Given the description of an element on the screen output the (x, y) to click on. 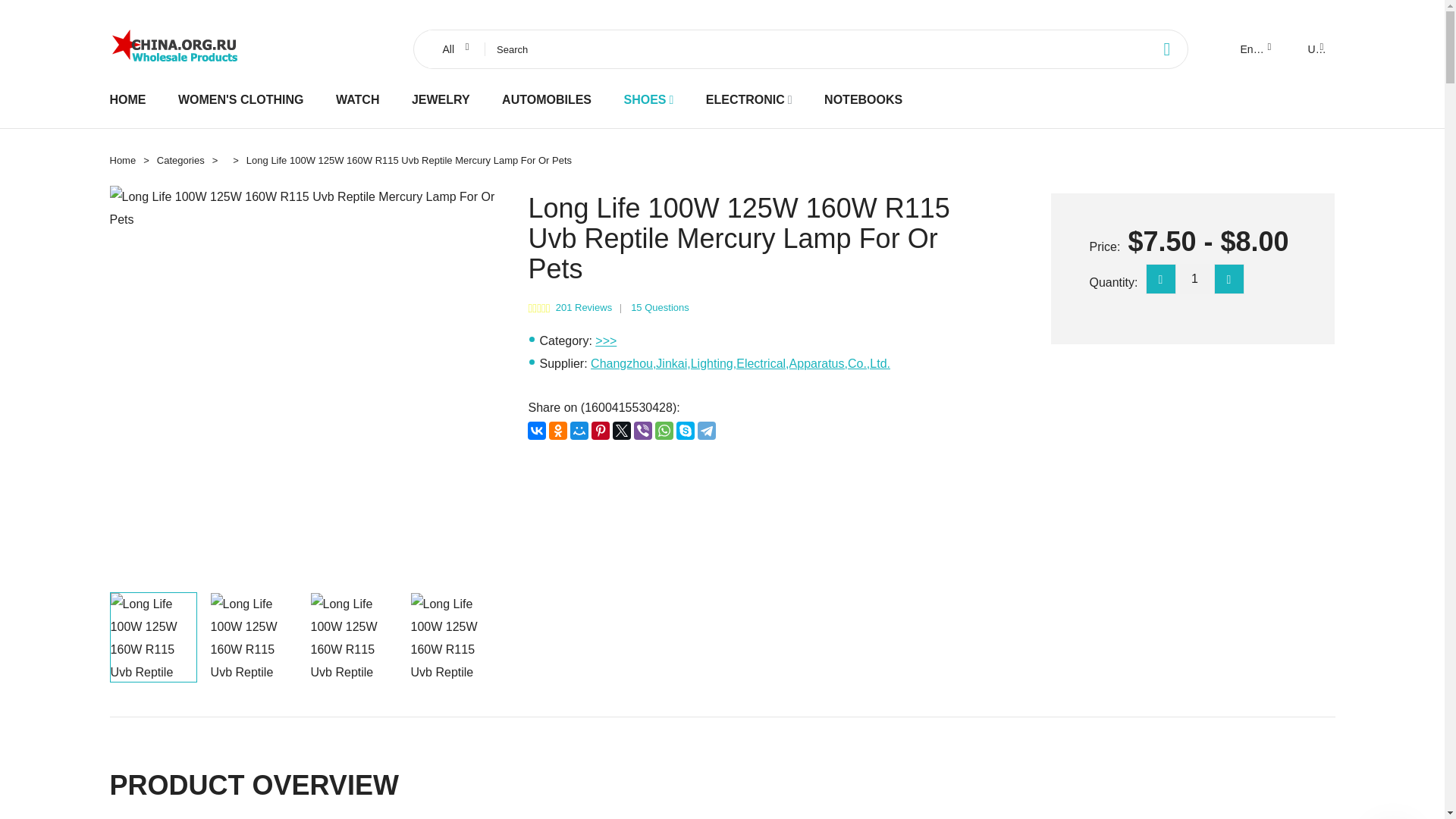
Advertisement (756, 568)
Categories (181, 160)
AUTOMOBILES (546, 99)
JEWELRY (441, 99)
HOME (127, 99)
WOMEN'S CLOTHING (240, 99)
All (454, 48)
NOTEBOOKS (863, 99)
USD (1314, 48)
15 Questions (659, 307)
ELECTRONIC (745, 99)
Pinterest (600, 430)
Home (122, 160)
Telegram (706, 430)
Viber (642, 430)
